Given the description of an element on the screen output the (x, y) to click on. 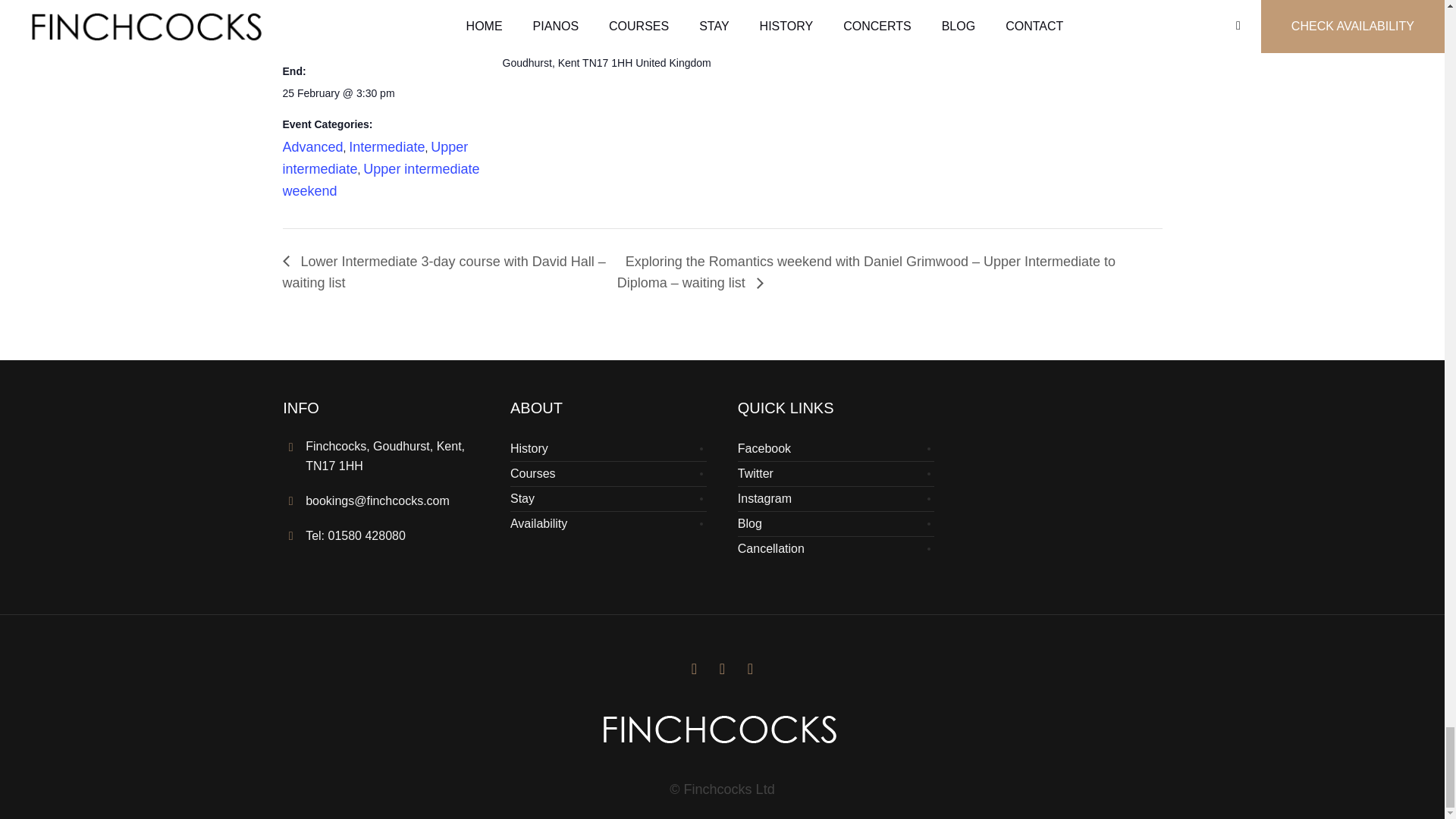
2024-02-25 (338, 93)
Kent (568, 62)
Facebook (750, 668)
Twitter (693, 668)
Finchcocks Piano Courses (721, 728)
Google (722, 668)
2024-02-23 (346, 39)
